Given the description of an element on the screen output the (x, y) to click on. 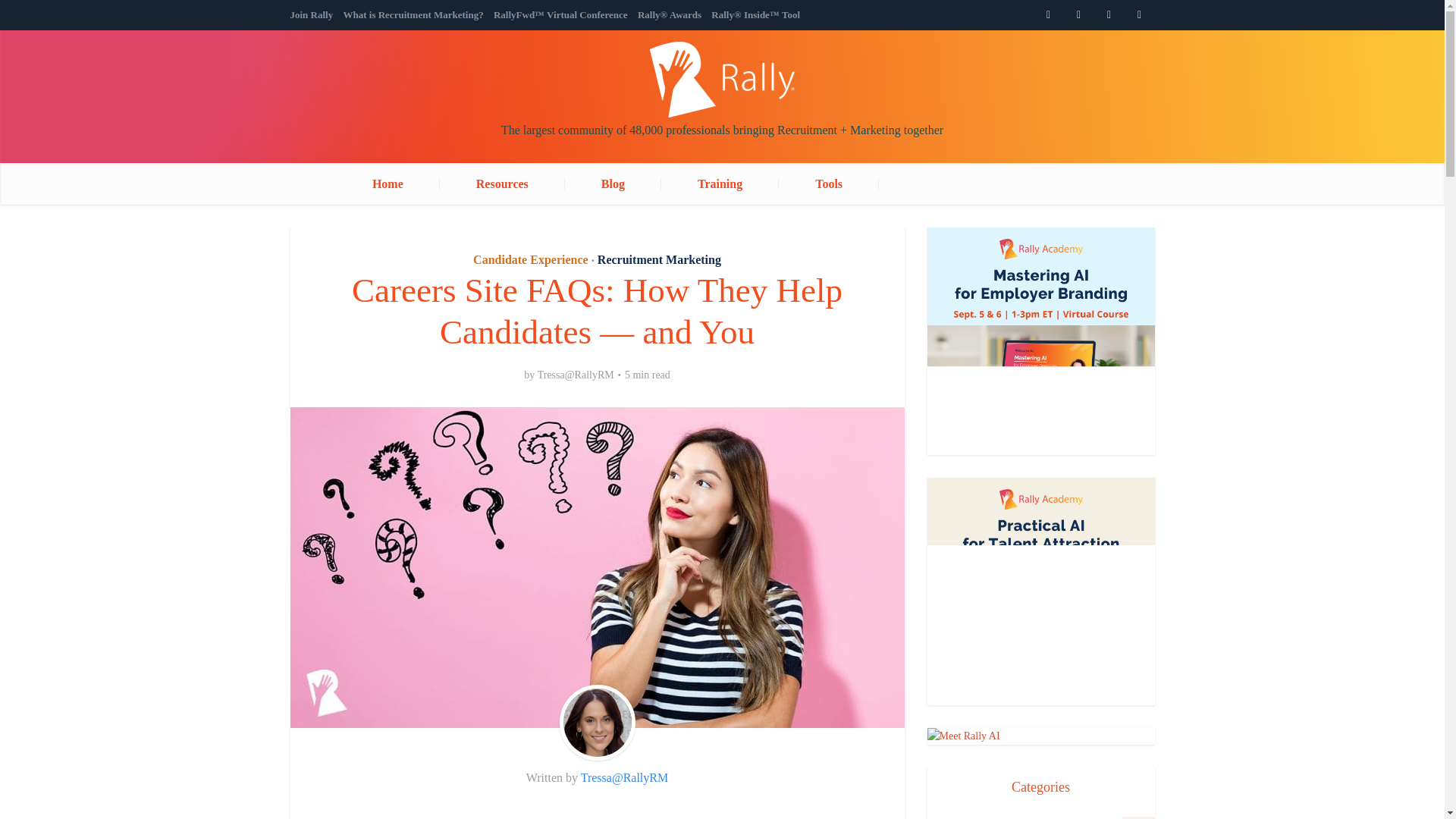
Resources (501, 183)
Training (719, 183)
Recruitment Marketing (658, 259)
Home (405, 183)
Tools (828, 183)
What is Recruitment Marketing? (412, 14)
Candidate Experience (530, 259)
Blog (612, 183)
Join Rally (311, 14)
